Given the description of an element on the screen output the (x, y) to click on. 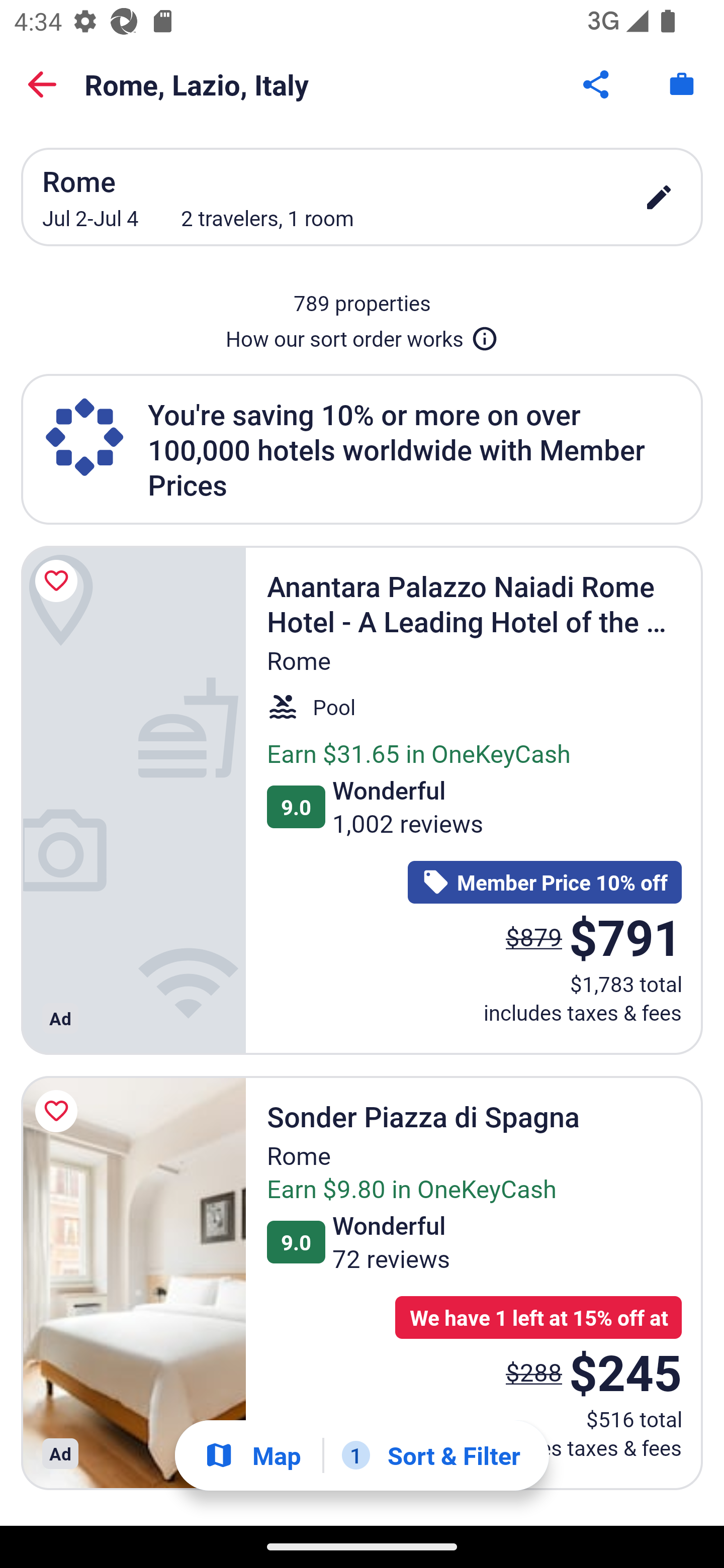
Back (42, 84)
Share Button (597, 84)
Trips. Button (681, 84)
Rome Jul 2-Jul 4 2 travelers, 1 room edit (361, 196)
How our sort order works (361, 334)
$879 The price was $879 (533, 936)
Save Sonder Piazza di Spagna to a trip (59, 1111)
Sonder Piazza di Spagna (133, 1282)
$288 The price was $288 (533, 1371)
1 Sort & Filter 1 Filter applied. Filters Button (430, 1455)
Show map Map Show map Button (252, 1455)
